Given the description of an element on the screen output the (x, y) to click on. 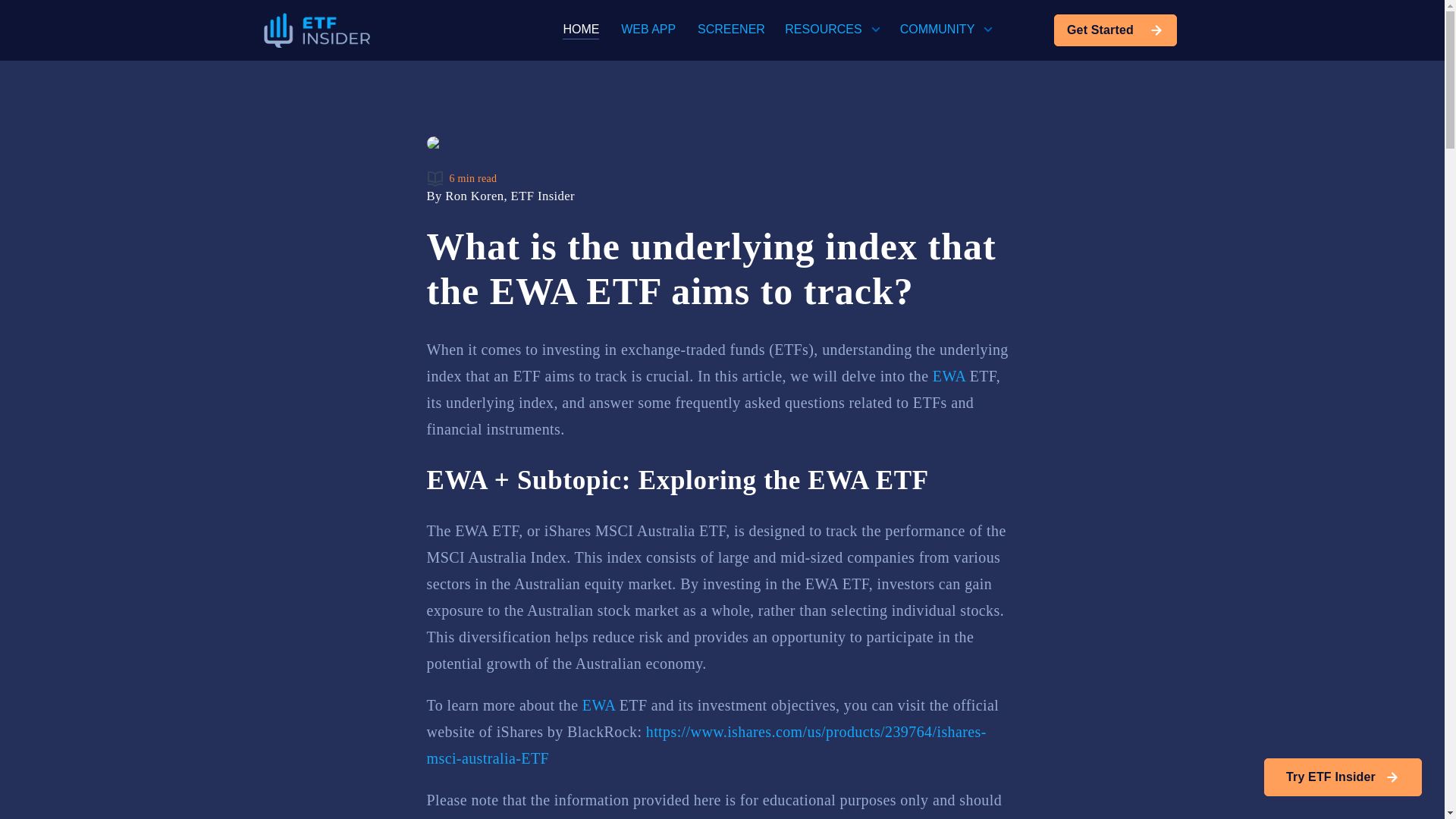
Get Started (1115, 29)
SCREENER (731, 29)
Try ETF Insider (1342, 777)
Ron Koren (474, 196)
HOME (580, 30)
EWA (598, 704)
EWA (949, 375)
WEB APP (648, 29)
